Given the description of an element on the screen output the (x, y) to click on. 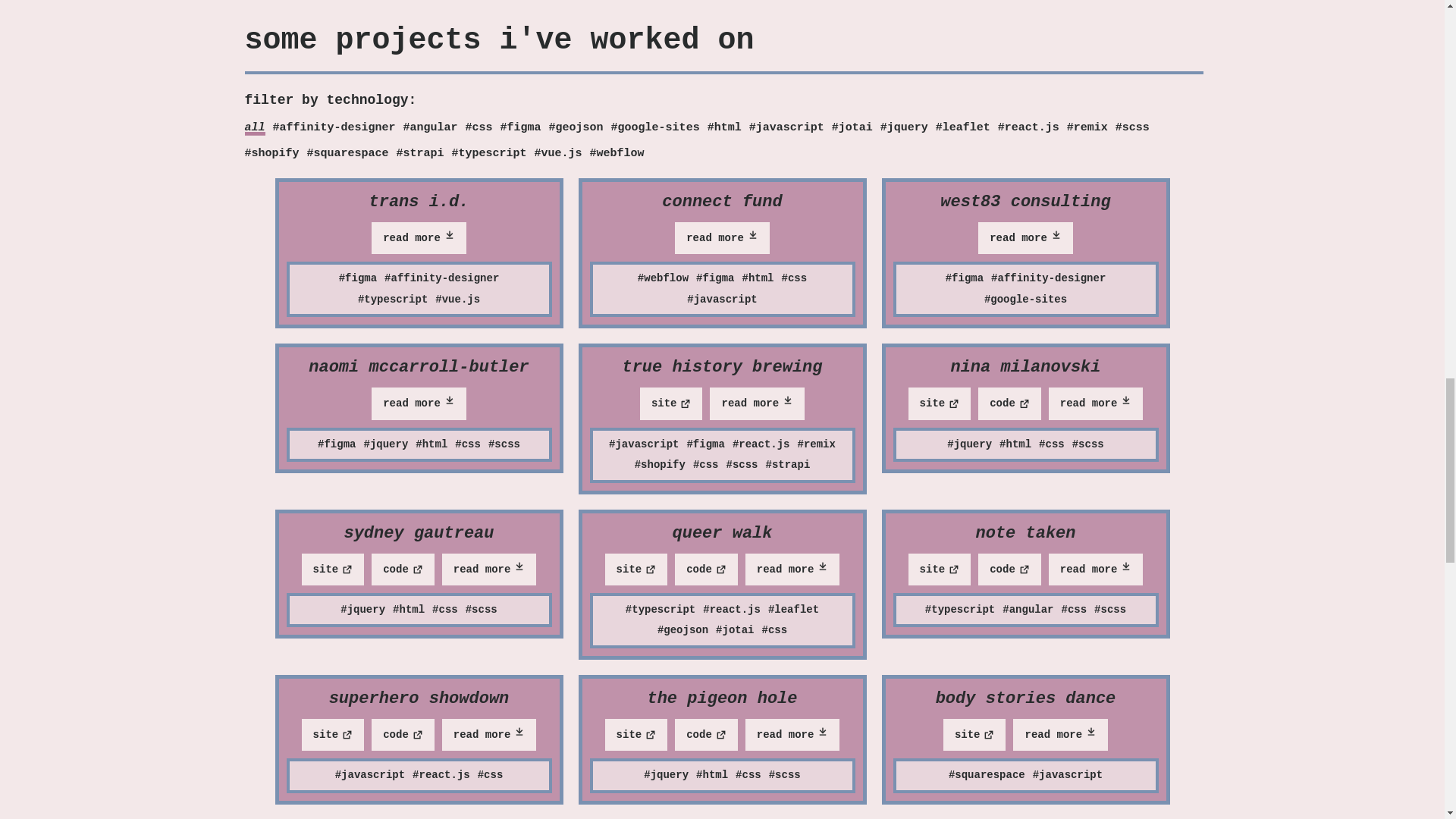
read more (418, 237)
JavaScript projects (786, 127)
HTML projects (724, 127)
Shopify projects (271, 153)
Figma projects (520, 127)
Affinity-designer projects (334, 127)
Google-sites projects (655, 127)
GeoJSON projects (576, 127)
SCSS projects (1132, 127)
read more (722, 237)
Jquery projects (904, 127)
React.js projects (1028, 127)
Remix projects (1087, 127)
Leaflet projects (963, 127)
Jotai projects (851, 127)
